Given the description of an element on the screen output the (x, y) to click on. 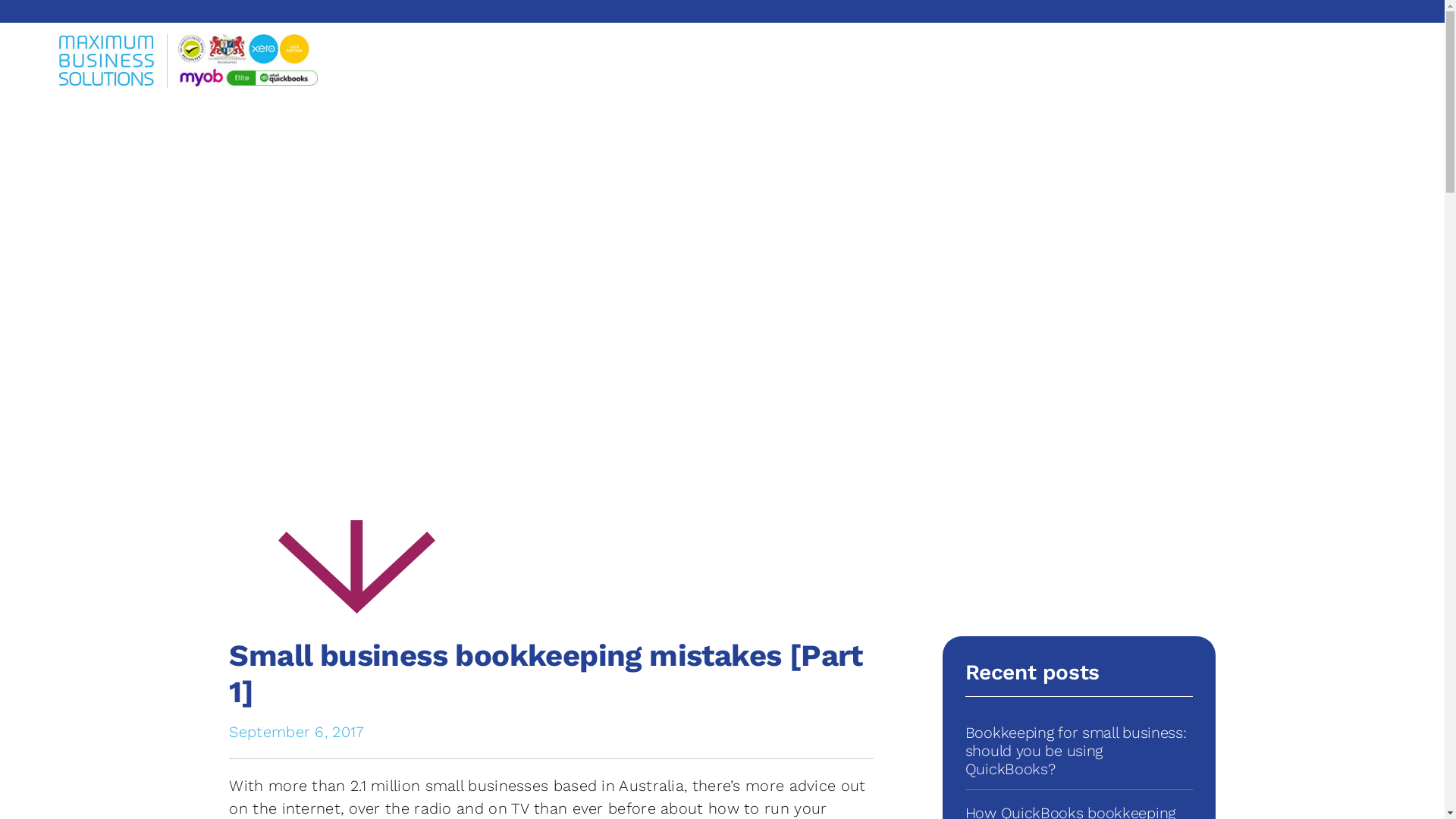
logo-partners Element type: hover (247, 60)
